Given the description of an element on the screen output the (x, y) to click on. 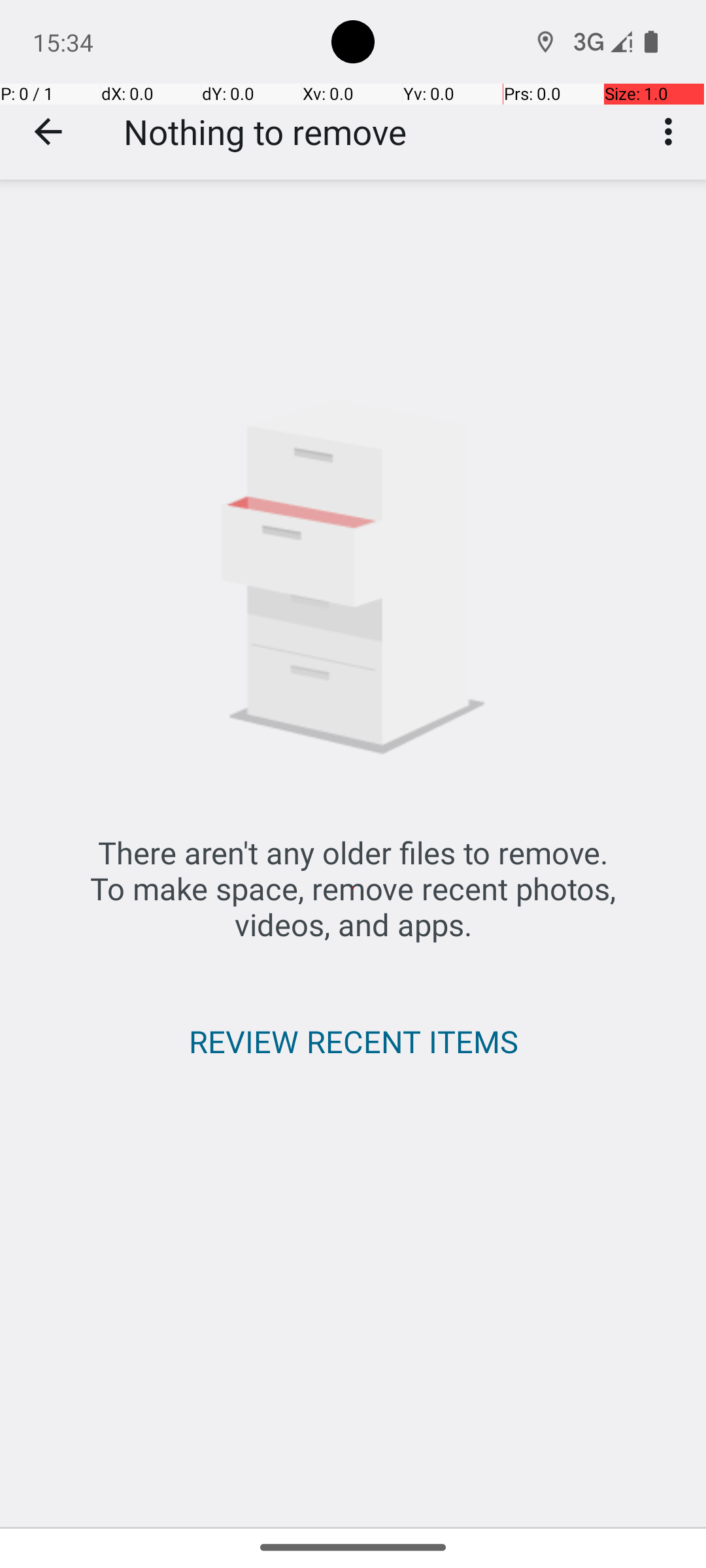
Nothing to remove Element type: android.widget.TextView (265, 131)
There aren't any older files to remove. To make space, remove recent photos, videos, and apps. Element type: android.widget.TextView (353, 887)
REVIEW RECENT ITEMS Element type: android.widget.TextView (352, 1040)
